Given the description of an element on the screen output the (x, y) to click on. 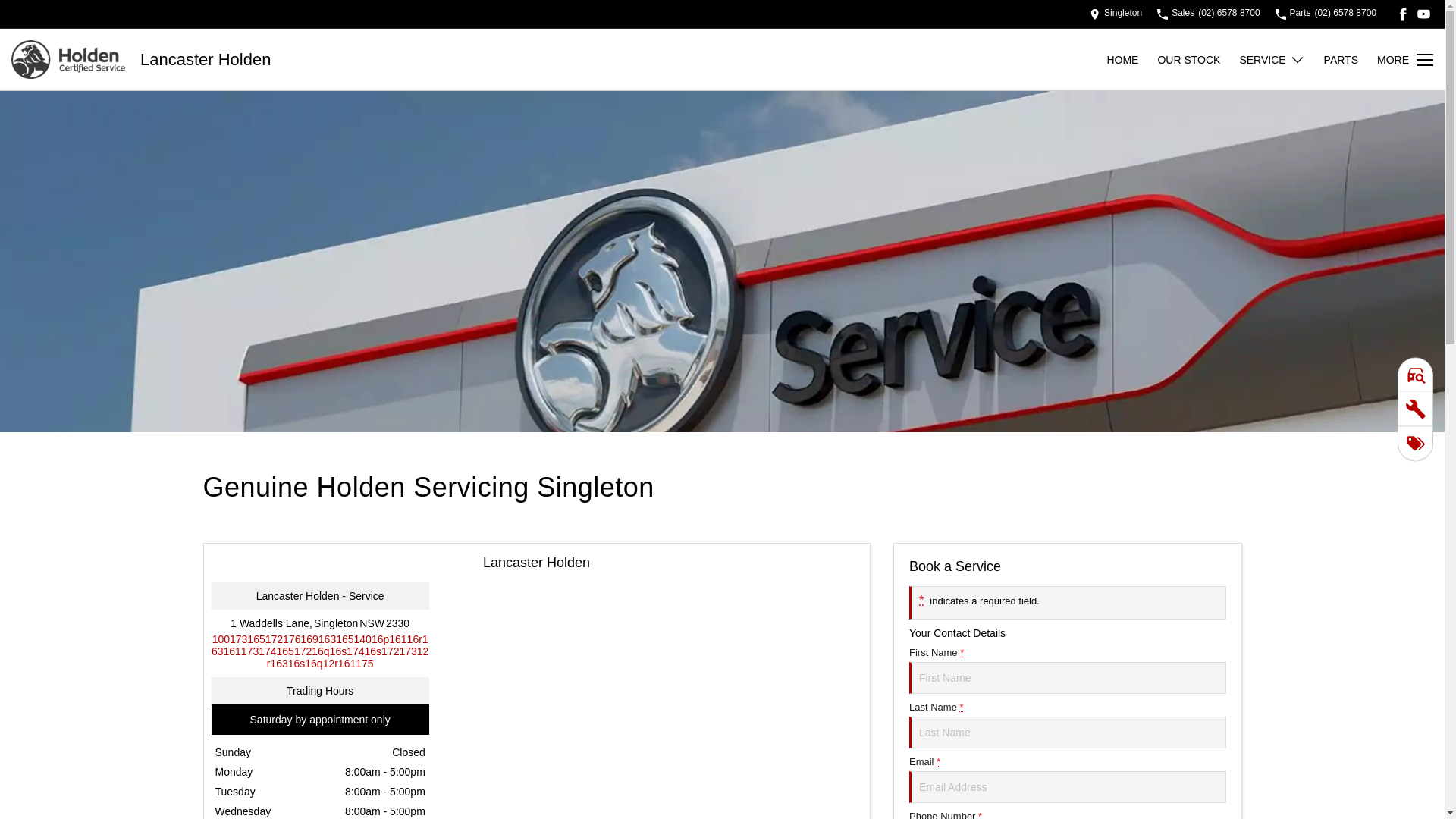
Parts
(02) 6578 8700 Element type: text (1325, 13)
Sales
(02) 6578 8700 Element type: text (1208, 13)
OUR STOCK Element type: text (1198, 59)
MORE Element type: text (1405, 58)
Singleton Element type: text (1115, 13)
SERVICE Element type: text (1271, 59)
HOME Element type: text (1131, 59)
PARTS Element type: text (1350, 59)
Lancaster Holden Element type: text (205, 59)
